Given the description of an element on the screen output the (x, y) to click on. 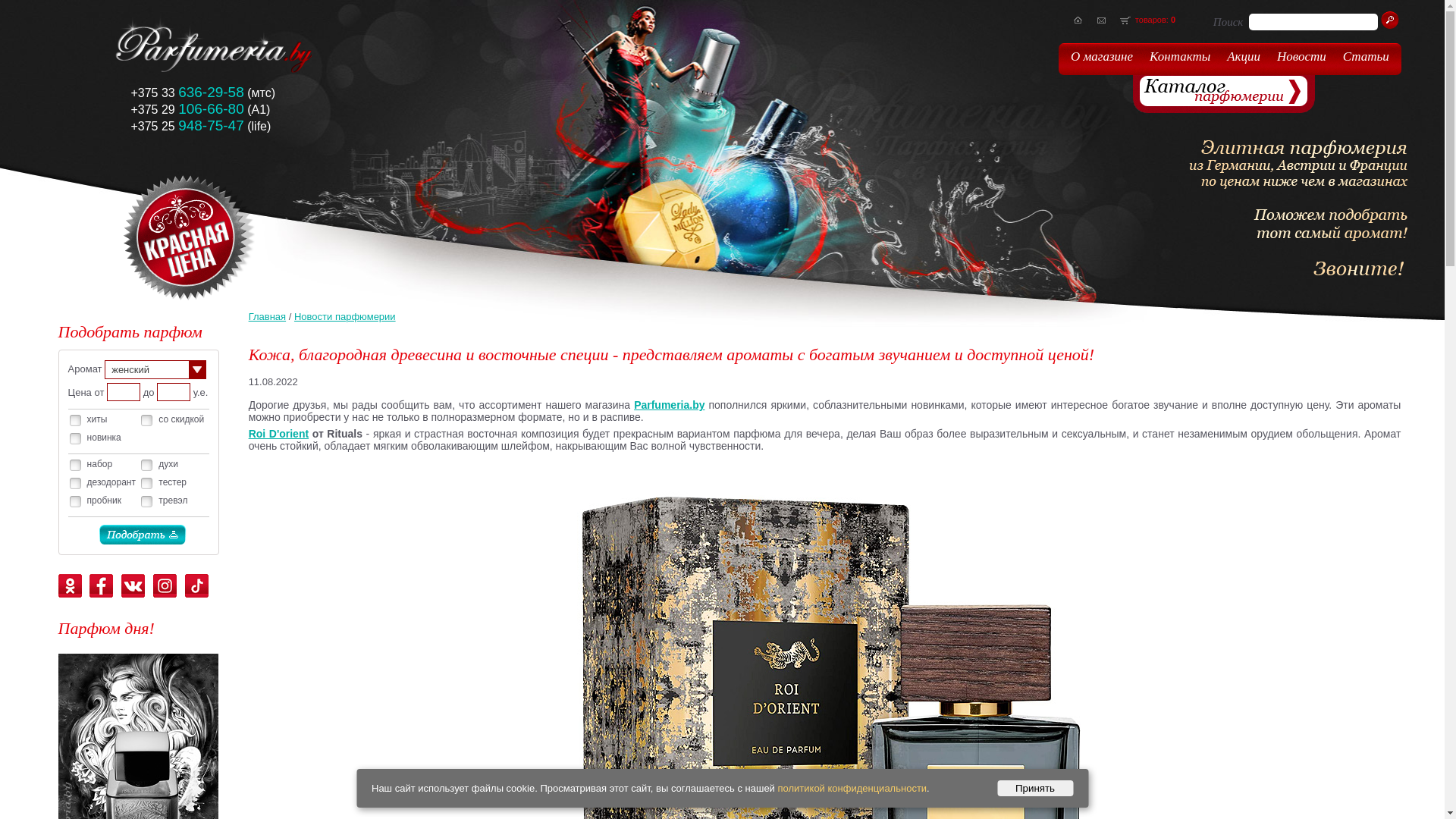
948-75-47 Element type: text (211, 125)
Roi D'orient Element type: text (278, 433)
Parfumeria.by Element type: text (668, 404)
636-29-58 Element type: text (211, 92)
106-66-80 Element type: text (211, 109)
